Given the description of an element on the screen output the (x, y) to click on. 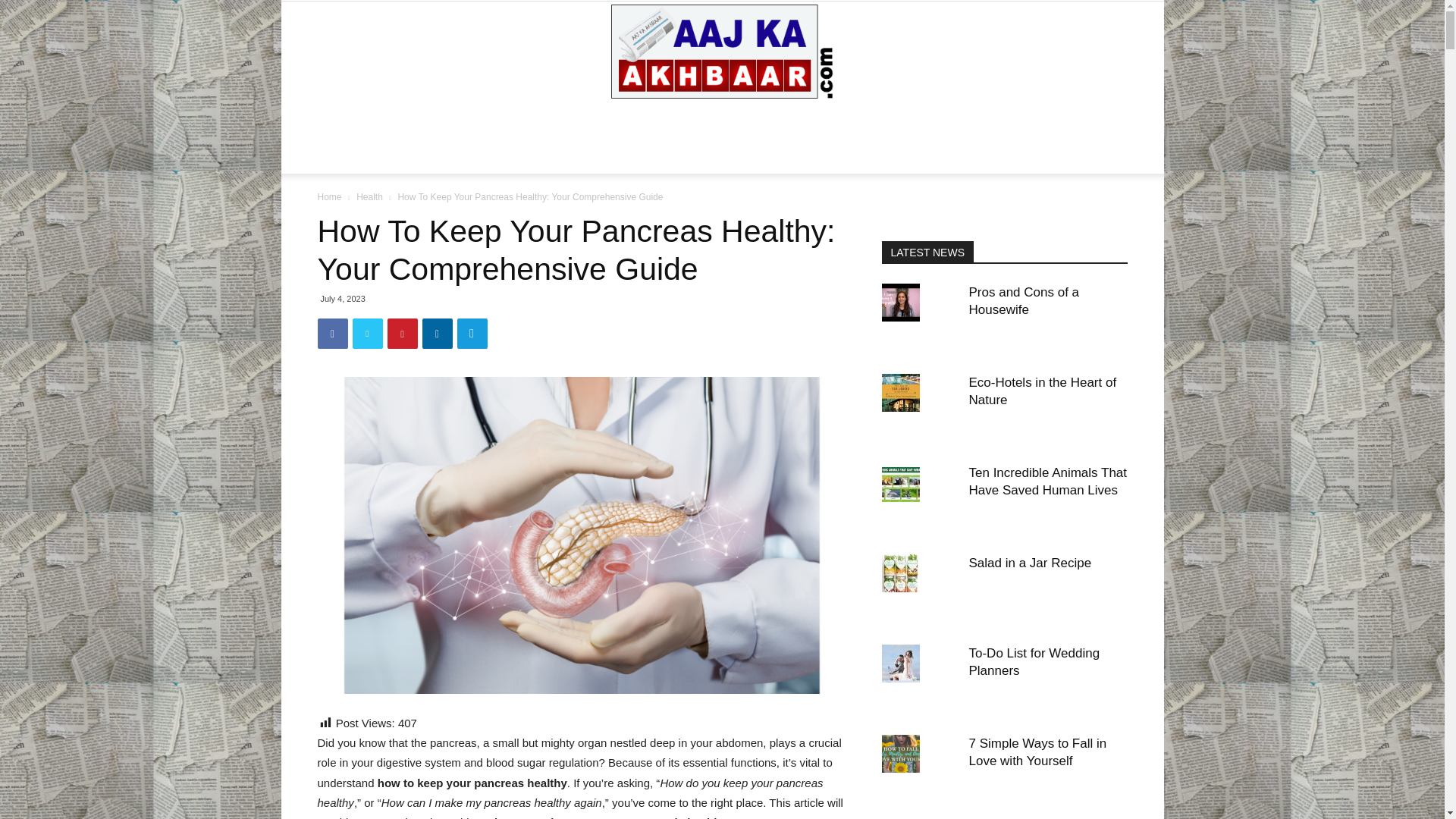
LATEST (647, 118)
BUSINESS (386, 155)
WORLD POLITICS (992, 118)
HOME (377, 118)
SPORTS (912, 118)
AajKaAkhbaar.com (722, 51)
ENTERTAINMENT (450, 118)
LIFESTYLE (710, 118)
FASHION (531, 118)
View all posts in Health (369, 196)
HEALTH (591, 118)
TRAVEL (1070, 118)
